Given the description of an element on the screen output the (x, y) to click on. 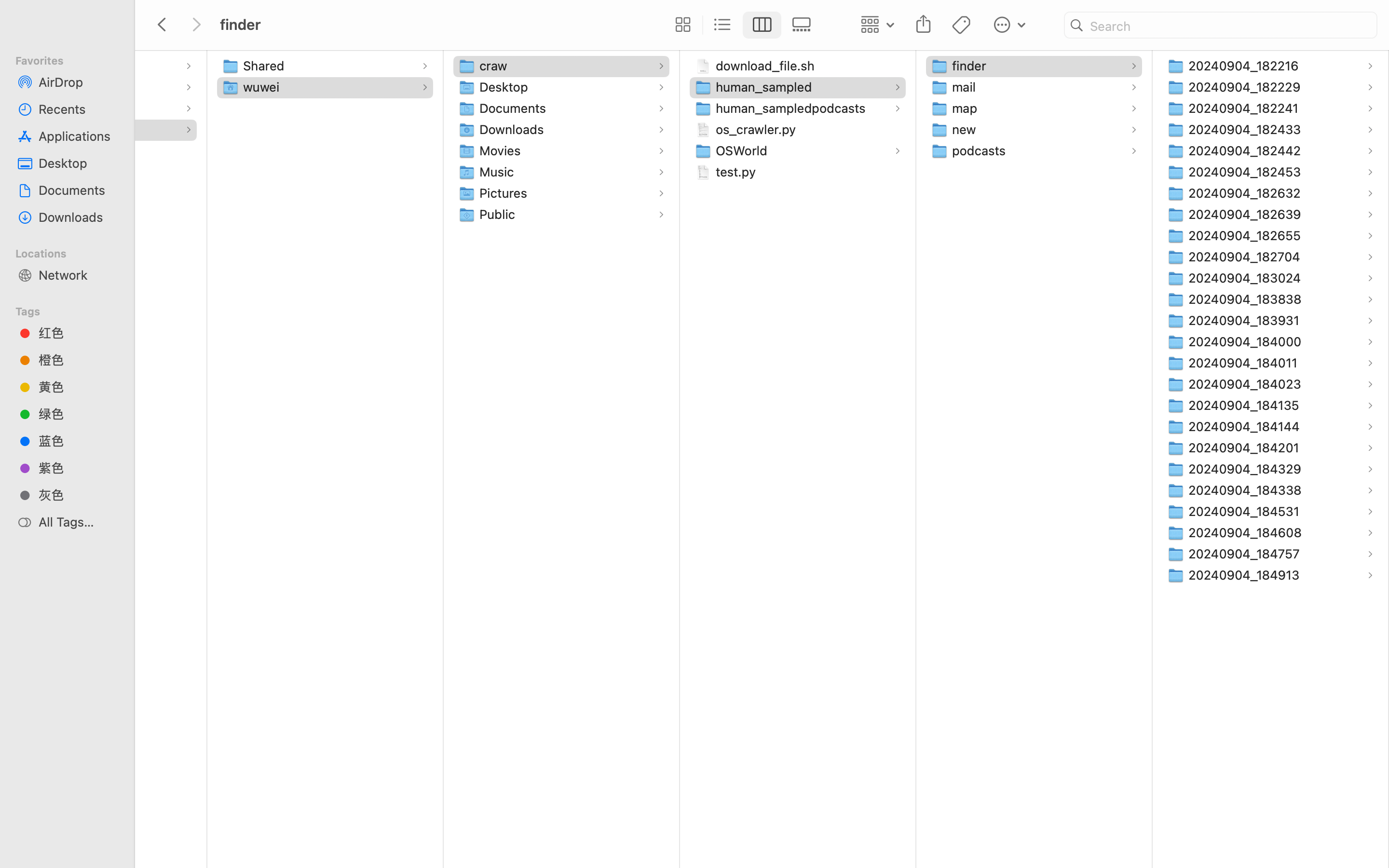
Movies Element type: AXTextField (501, 150)
Desktop Element type: AXTextField (505, 86)
紫色 Element type: AXStaticText (77, 467)
Favorites Element type: AXStaticText (72, 59)
20240904_182704 Element type: AXTextField (1246, 256)
